Given the description of an element on the screen output the (x, y) to click on. 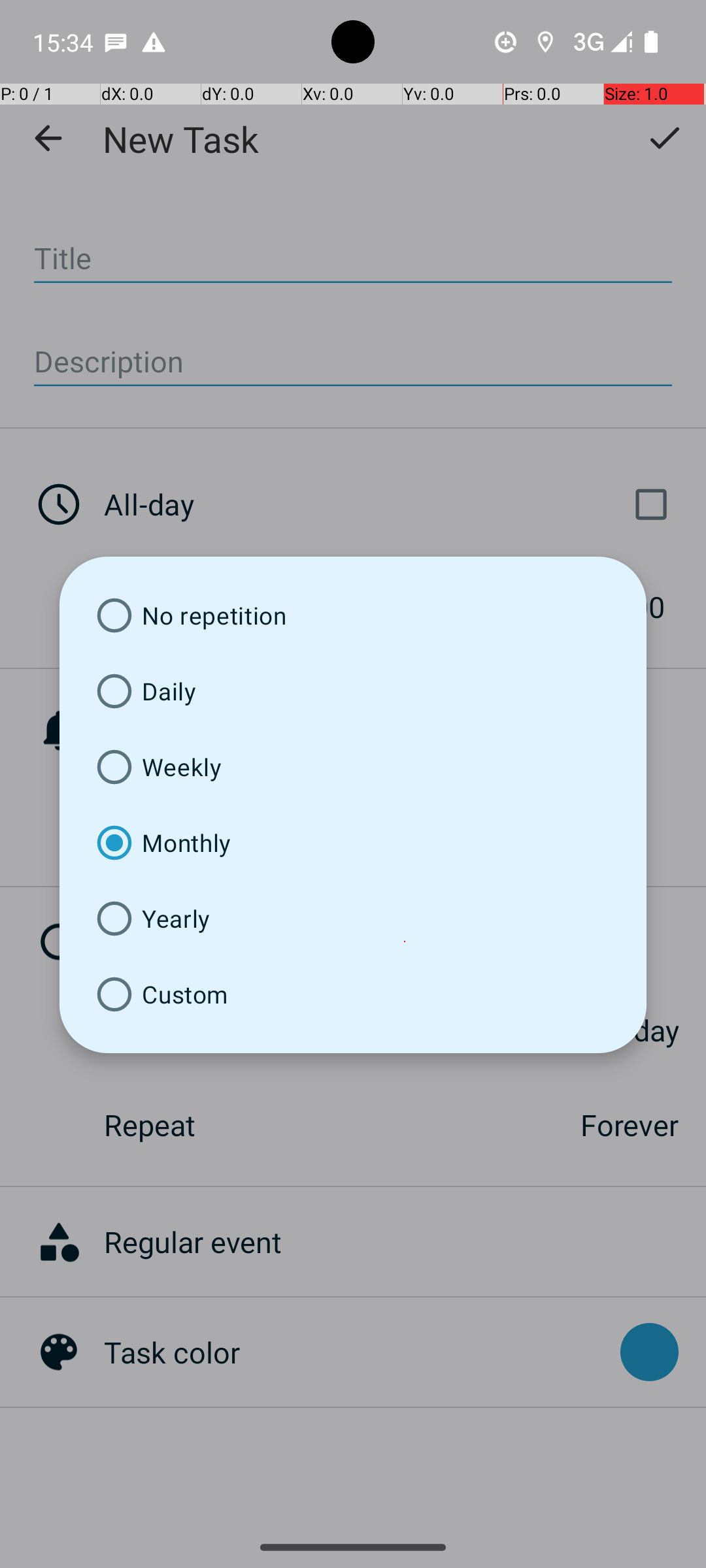
Daily Element type: android.widget.RadioButton (352, 691)
Weekly Element type: android.widget.RadioButton (352, 766)
Monthly Element type: android.widget.RadioButton (352, 842)
Yearly Element type: android.widget.RadioButton (352, 918)
Custom Element type: android.widget.RadioButton (352, 994)
